Given the description of an element on the screen output the (x, y) to click on. 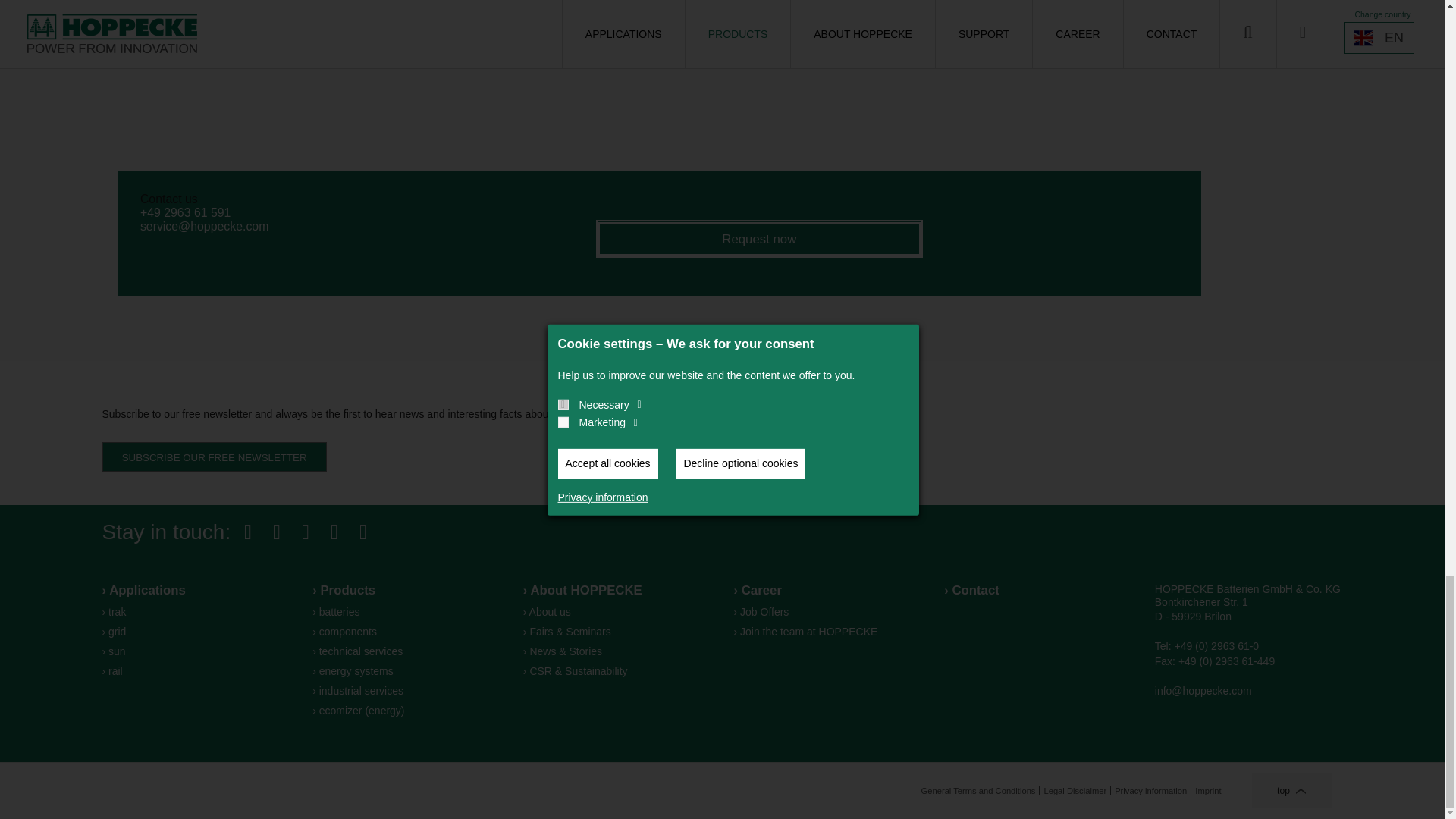
About us (616, 612)
sun (195, 651)
combiner line (406, 631)
power line (406, 612)
trak (195, 612)
Job Offers (827, 612)
Stories (616, 651)
systemizer (406, 671)
grid (195, 631)
ecomizer (406, 710)
rail (195, 671)
optimizer (406, 690)
Join the team at HOPPECKE (827, 631)
